Given the description of an element on the screen output the (x, y) to click on. 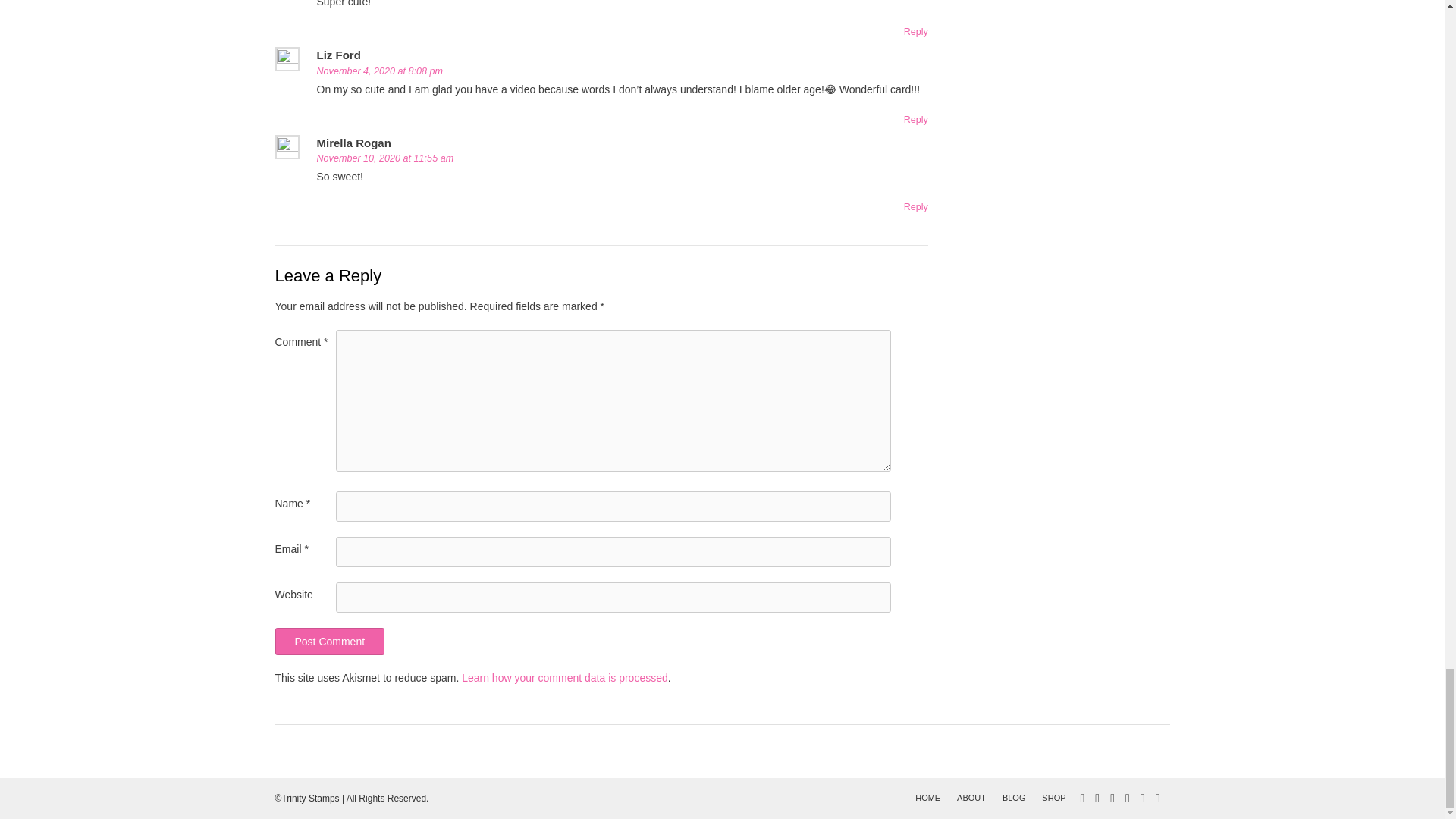
November 10, 2020 at 11:55 am (385, 158)
Reply (916, 119)
Follow Us on Twitter (1112, 798)
November 4, 2020 at 8:08 pm (380, 71)
Reply (916, 206)
Send Us an Email (1081, 798)
Post Comment (329, 641)
Pin Us on Pinterest (1157, 798)
Reply (916, 31)
View our YouTube Channel (1127, 798)
Follow Us on Instagram (1142, 798)
Find Us on Facebook (1097, 798)
